Given the description of an element on the screen output the (x, y) to click on. 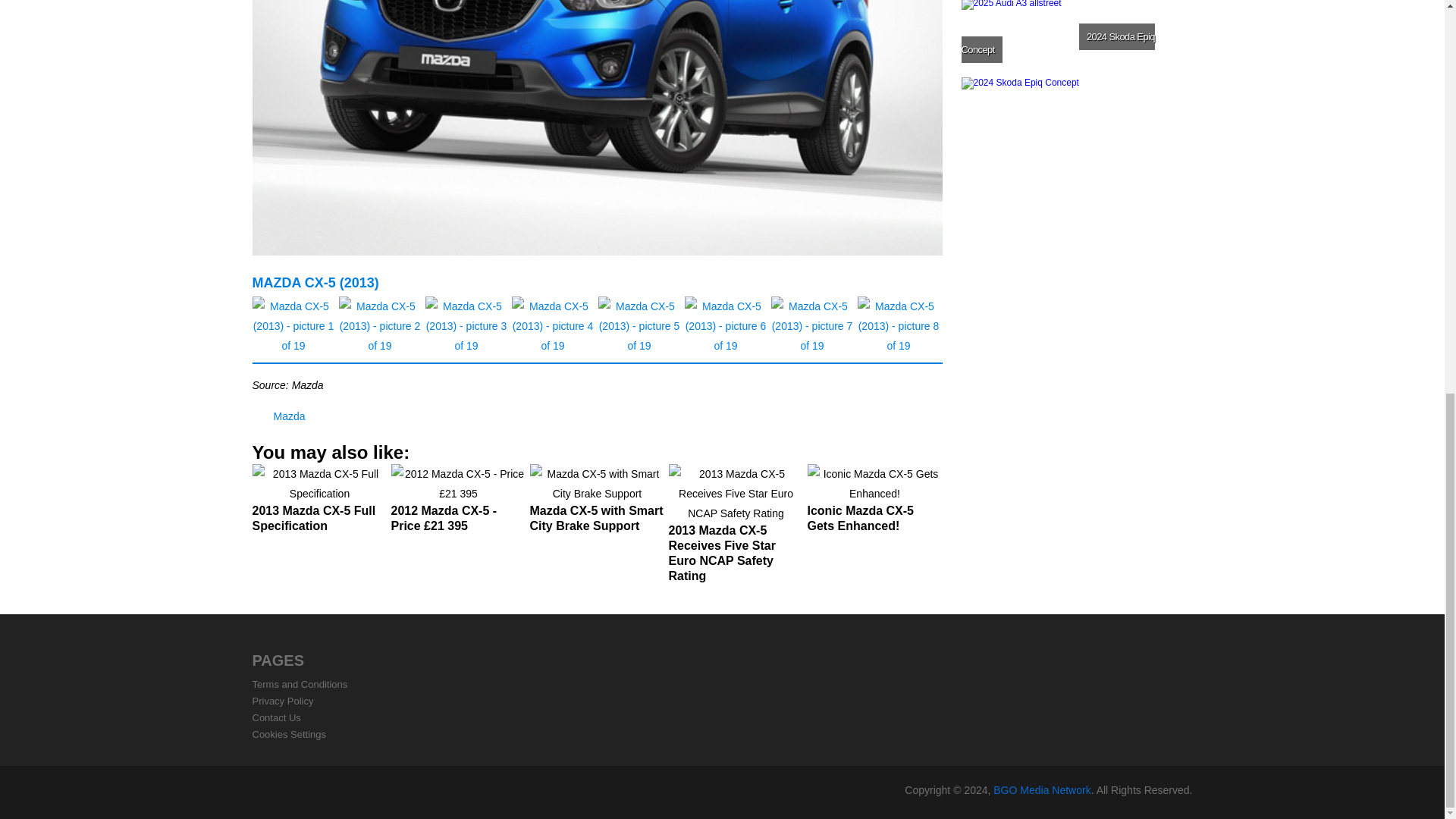
Mazda (288, 416)
Audi A3 allstreet (1074, 36)
Privacy Policy (282, 700)
2013 Mazda CX-5 Full Specification (319, 504)
Privacy Policy (282, 700)
2013 Mazda CX-5 Receives Five Star Euro NCAP Safety Rating (735, 529)
Terms and Conditions (299, 684)
Contact Us (275, 717)
Contact Us (275, 717)
Mazda CX-5 with Smart City Brake Support (596, 504)
